Given the description of an element on the screen output the (x, y) to click on. 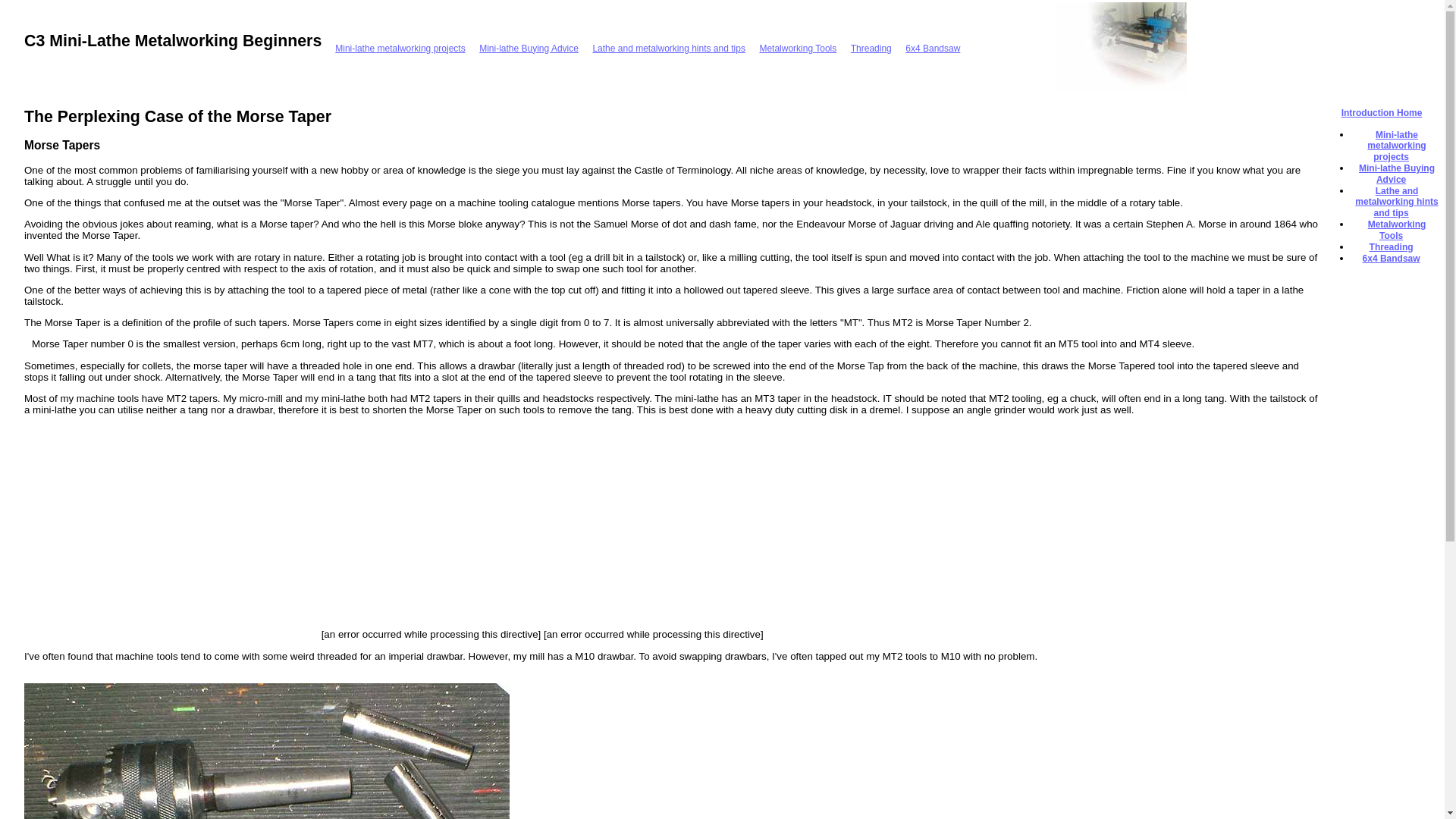
Metalworking Tools (796, 47)
6x4 Bandsaw (932, 47)
Advertisement (892, 531)
Lathe and metalworking hints and tips (668, 47)
Mini-lathe metalworking projects (399, 47)
Lathe and metalworking hints and tips (1396, 201)
6x4 Bandsaw (1391, 258)
Mini-lathe metalworking projects (1396, 145)
Mini-lathe Buying Advice (1396, 173)
Metalworking Tools (1397, 229)
Threading (870, 47)
Mini-lathe Buying Advice (528, 47)
Threading (1391, 246)
Introduction Home (1381, 112)
